Given the description of an element on the screen output the (x, y) to click on. 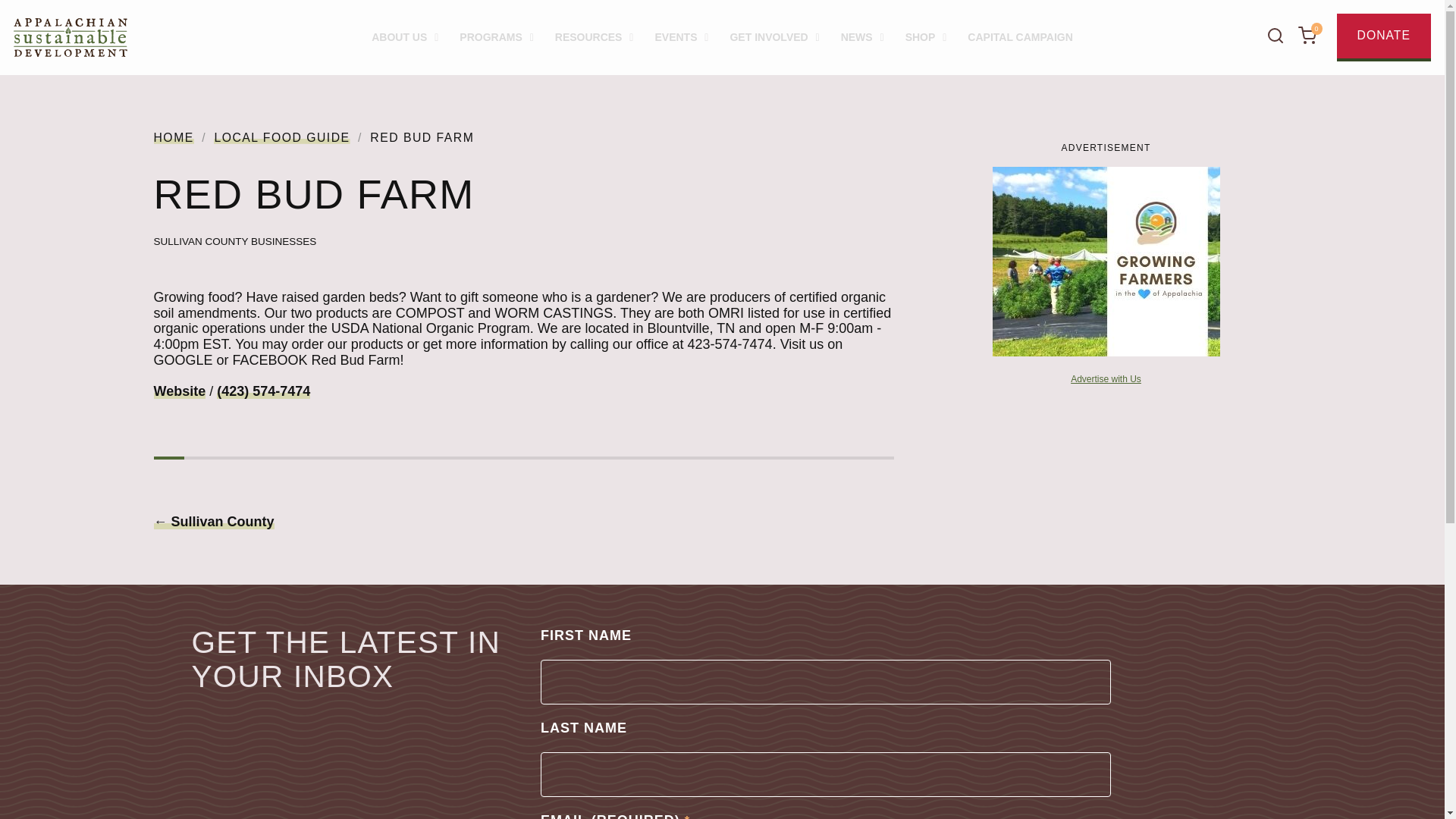
EVENTS (681, 36)
ABOUT US (404, 36)
RESOURCES (594, 36)
PROGRAMS (495, 36)
